Given the description of an element on the screen output the (x, y) to click on. 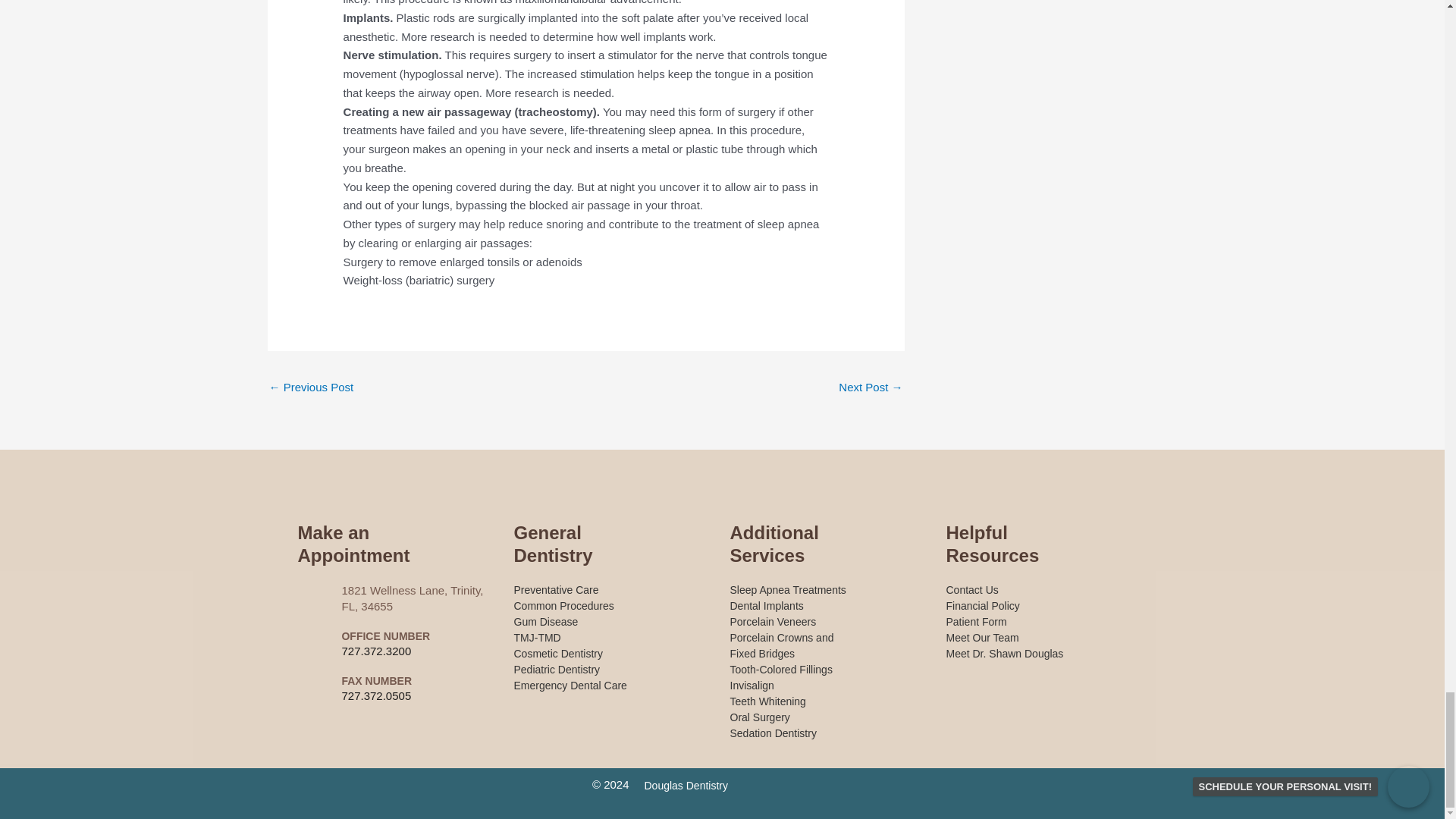
Facts and Tips About Dry Mouth (870, 388)
Some Useful Links for You to Get Started (310, 388)
